Given the description of an element on the screen output the (x, y) to click on. 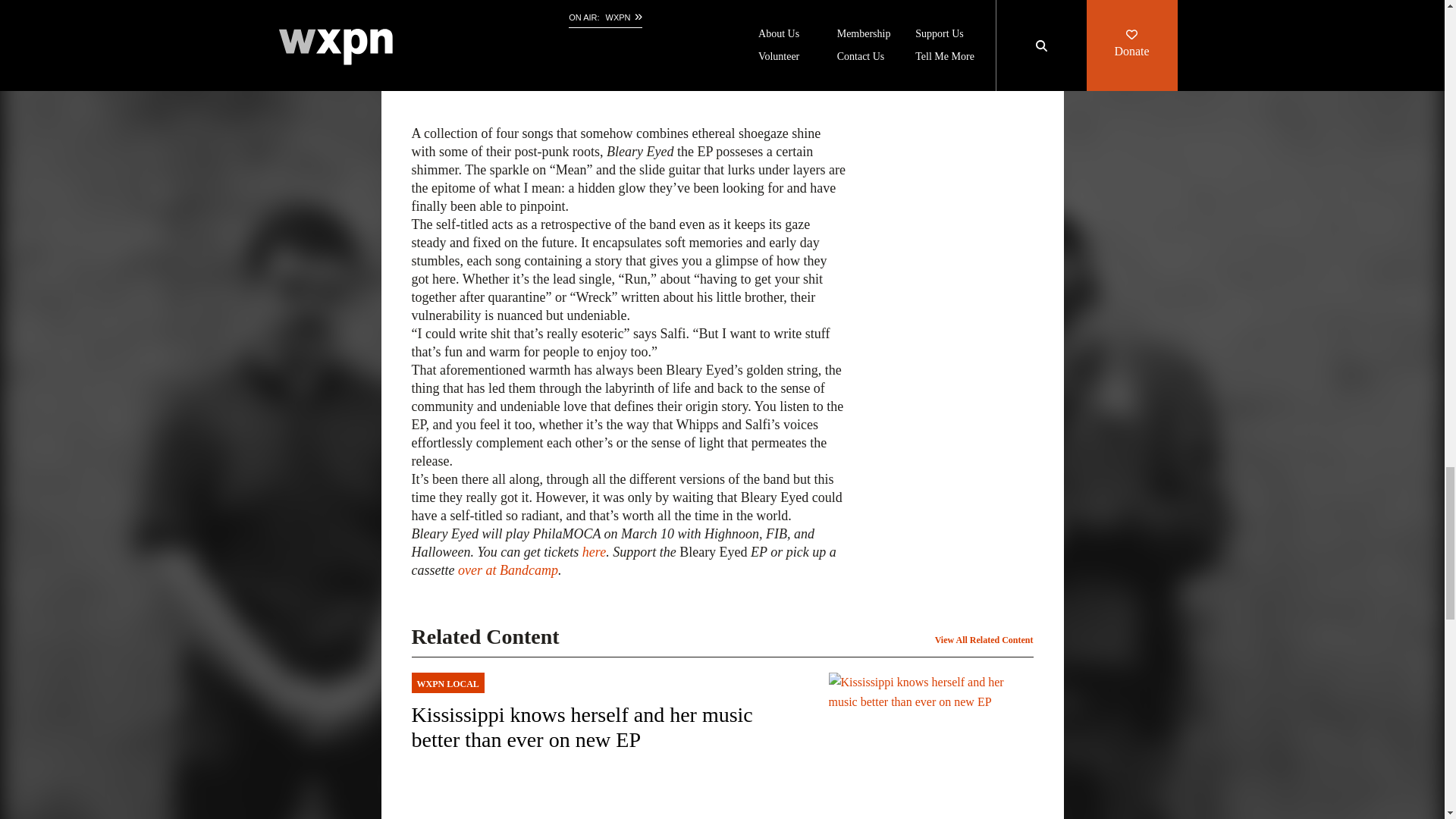
WXPN LOCAL (606, 682)
here (593, 551)
over at Bandcamp (507, 570)
View All Related Content (983, 639)
